Given the description of an element on the screen output the (x, y) to click on. 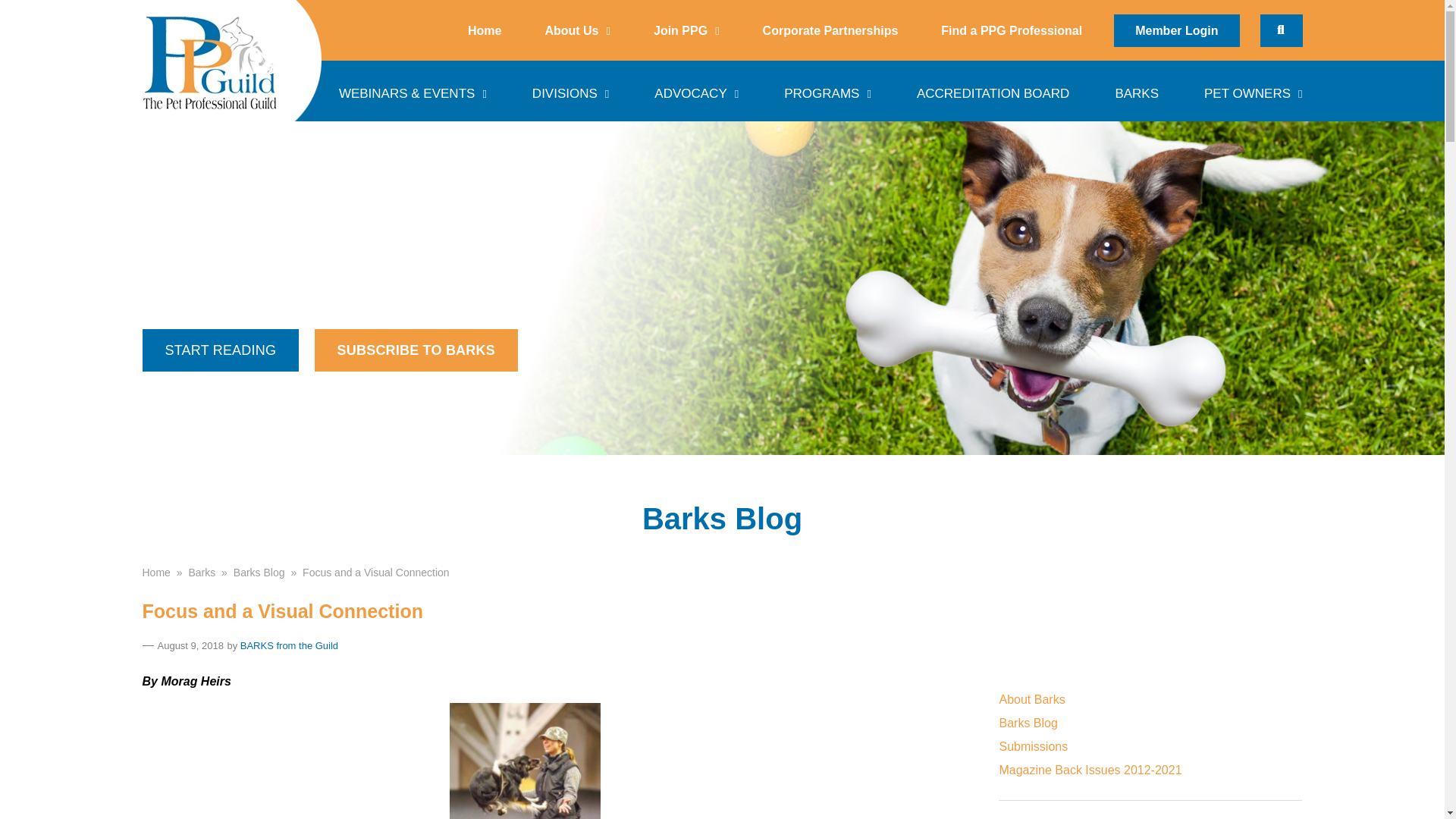
DIVISIONS (570, 90)
Corporate Partnerships (830, 30)
Find a PPG Professional (1011, 30)
Go to Barks Blog. (258, 571)
About Us (576, 30)
Join PPG (686, 30)
Go to Pet Professional Guild. (156, 571)
Member Login (1176, 29)
Home (484, 30)
Go to Barks. (201, 571)
